Given the description of an element on the screen output the (x, y) to click on. 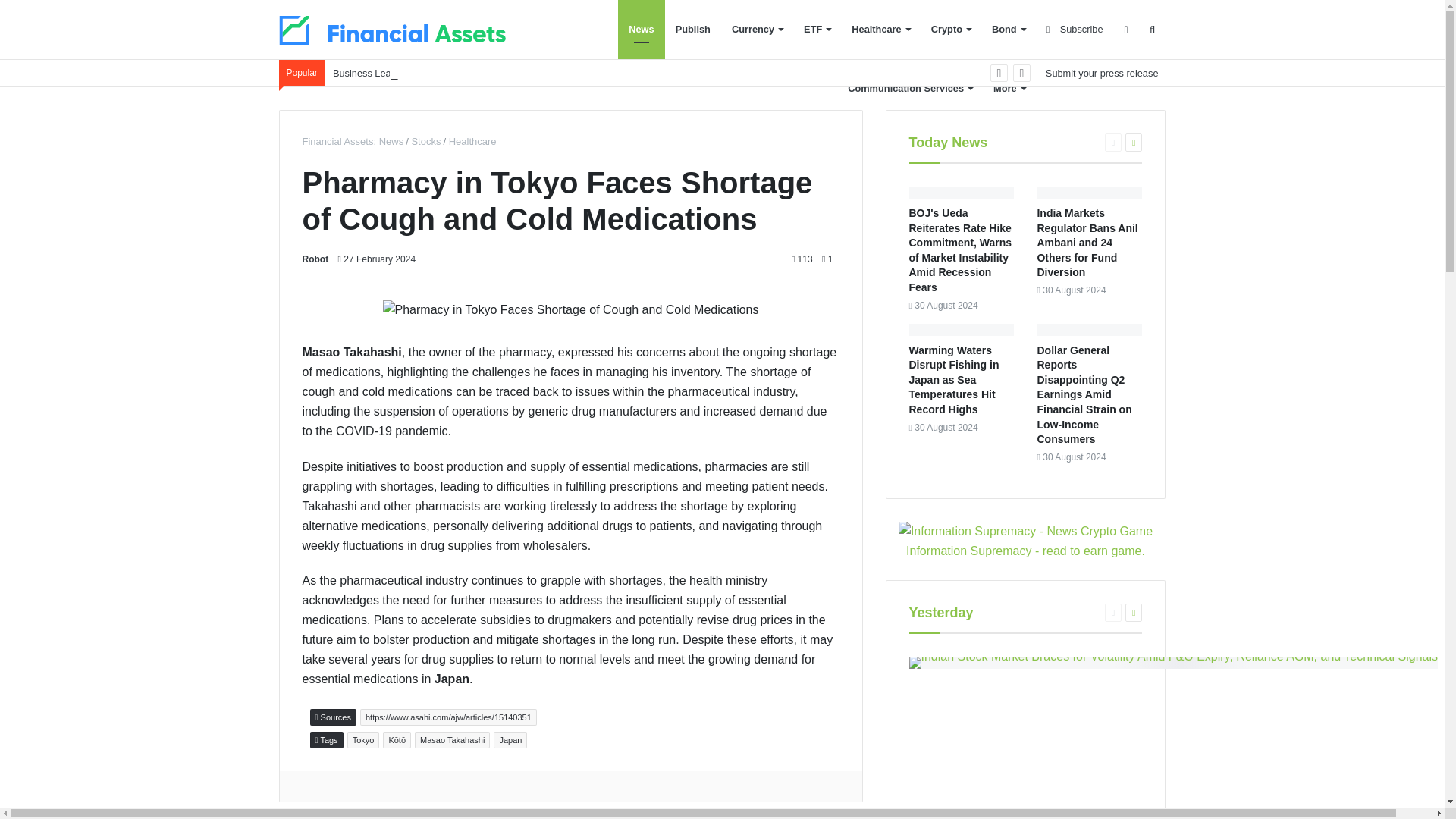
More (1008, 87)
Financial Assets: News (352, 141)
Subscribe (1074, 29)
Stocks (425, 141)
Crypto (950, 29)
Communication Services (909, 87)
Information Supremacy - News Crypto Game (1025, 531)
